Given the description of an element on the screen output the (x, y) to click on. 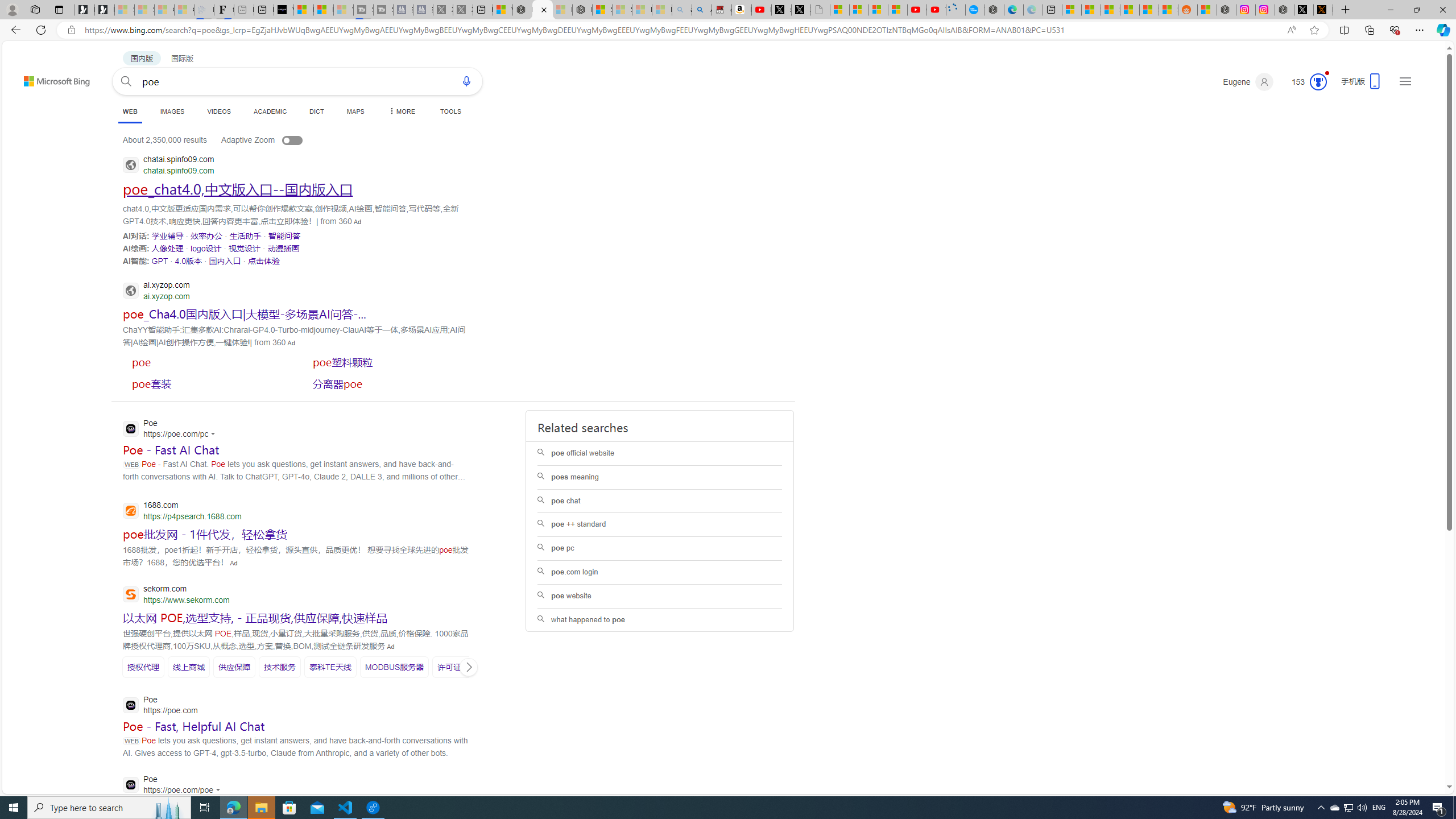
Close (1442, 9)
poe official website (659, 454)
Poe - Fast AI Chat (170, 449)
Shanghai, China weather forecast | Microsoft Weather (1090, 9)
SERP,5571 (188, 260)
SERP,5572 (224, 260)
Tab actions menu (58, 9)
Nordace - Nordace Siena Is Not An Ordinary Backpack (581, 9)
poe pc (659, 549)
New tab (1052, 9)
Click to scroll right (468, 666)
Personal Profile (12, 9)
